Given the description of an element on the screen output the (x, y) to click on. 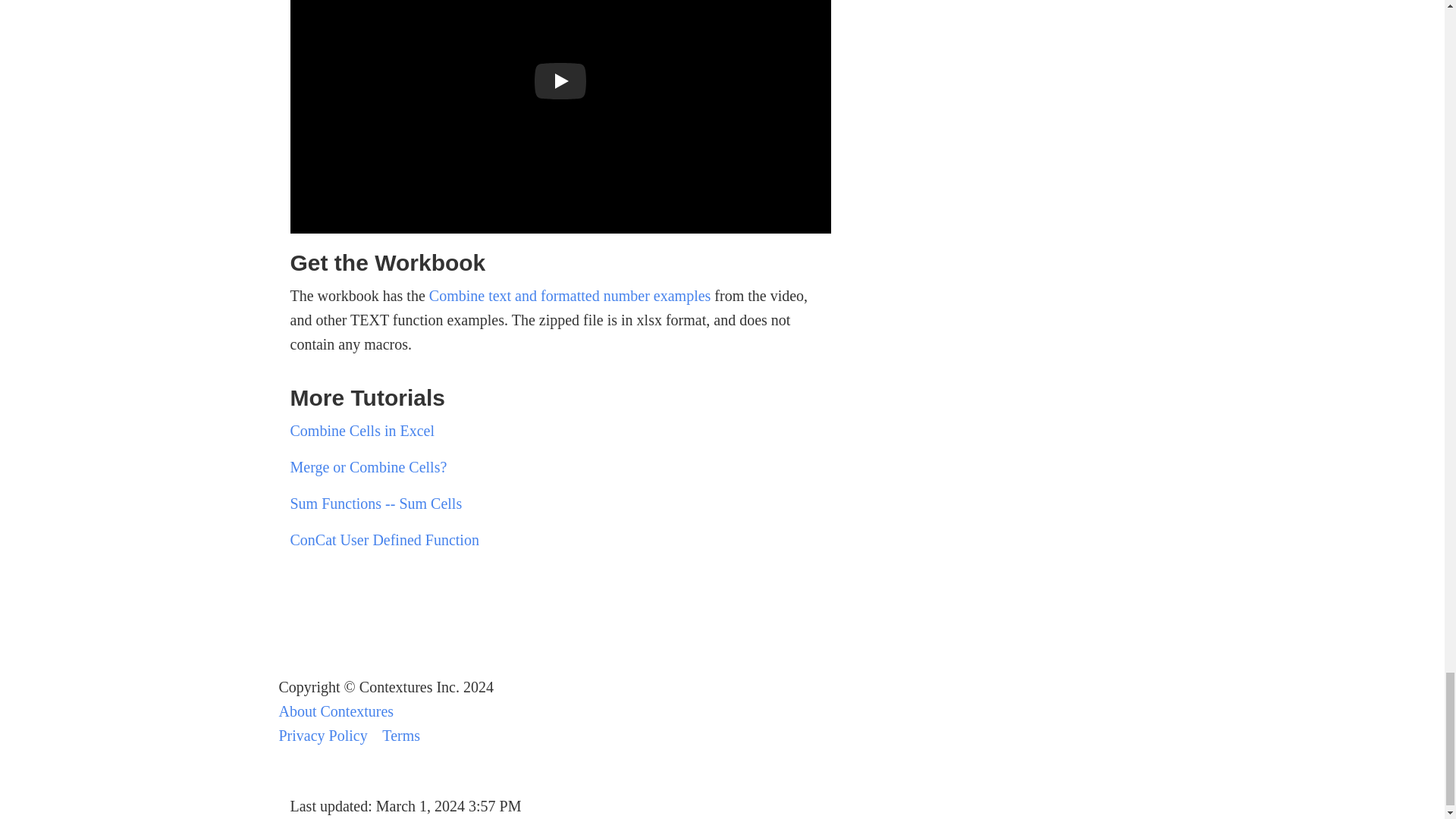
Merge or Combine Cells? (367, 466)
Combine Cells in Excel (361, 430)
ConCat User Defined Function (384, 539)
Play (560, 81)
Sum Functions -- Sum Cells (375, 503)
Combine text and formatted number examples (570, 295)
